Given the description of an element on the screen output the (x, y) to click on. 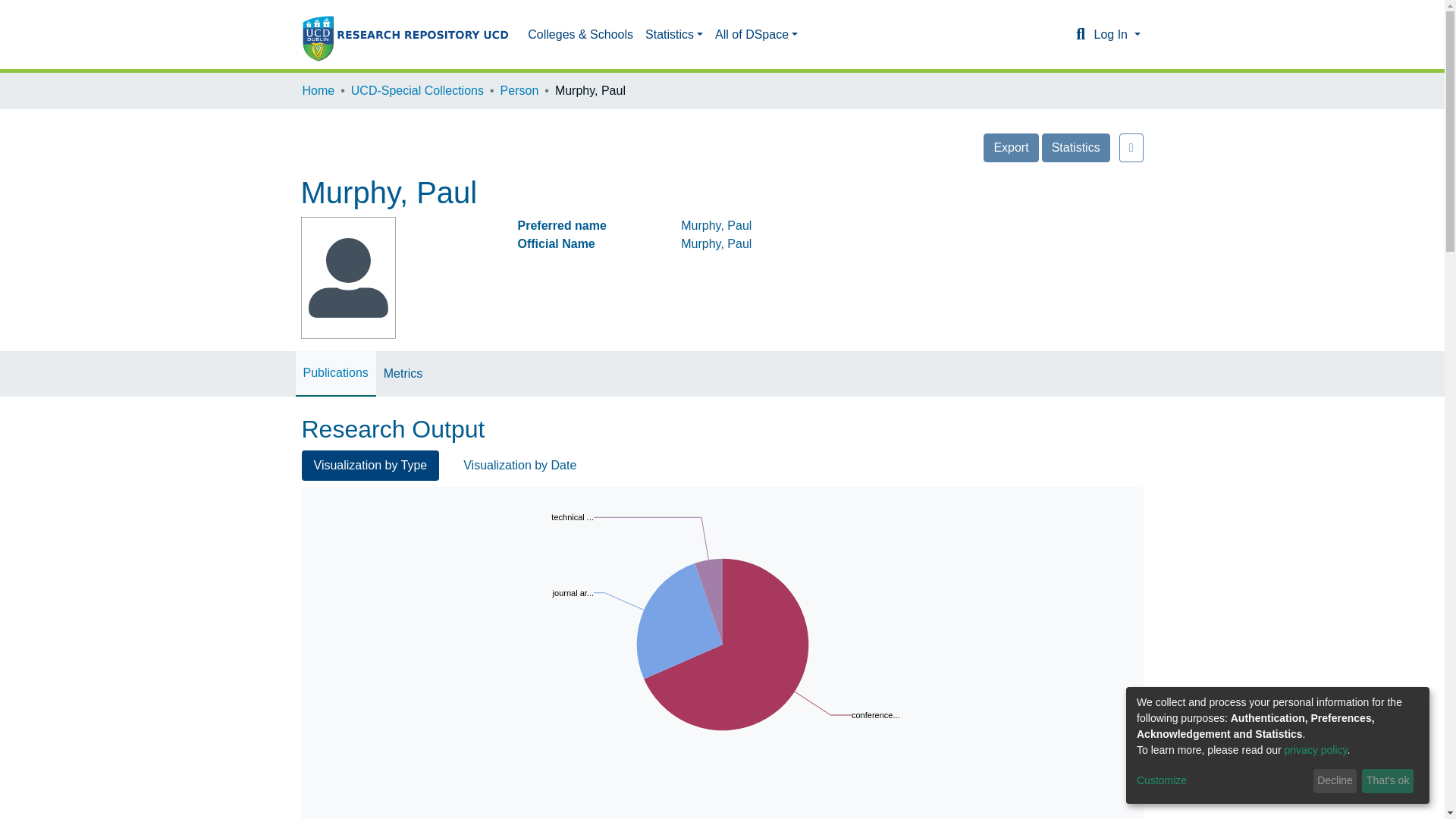
Export (1011, 147)
All of DSpace (756, 34)
Statistics (674, 34)
Visualization by Type (370, 465)
Metrics (402, 373)
UCD-Special Collections (416, 90)
Home (317, 90)
Search (1080, 34)
Statistics (1075, 147)
Log In (1116, 33)
Publications (335, 372)
Publications (335, 372)
Metrics (402, 373)
Person (519, 90)
